Given the description of an element on the screen output the (x, y) to click on. 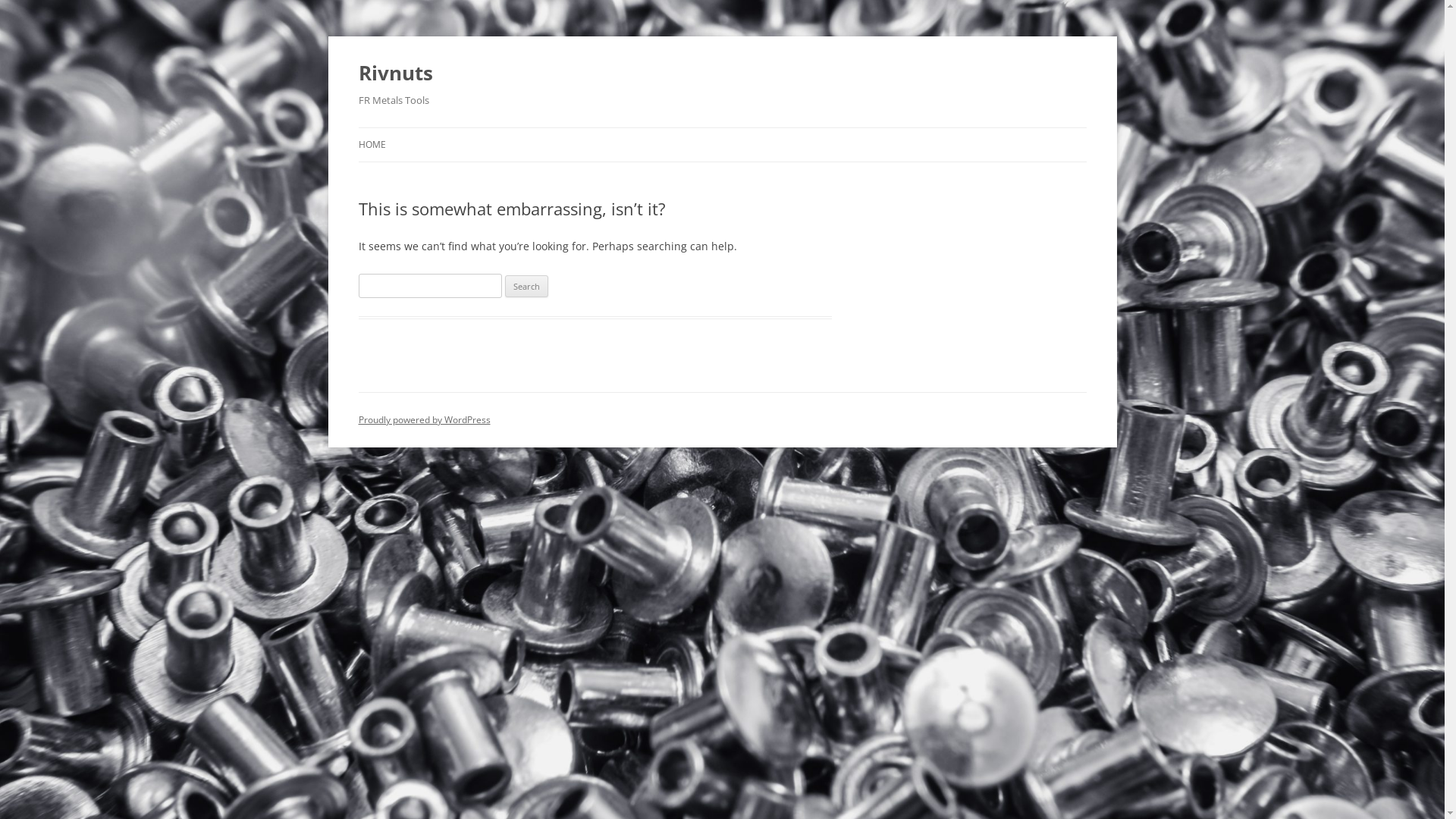
Proudly powered by WordPress Element type: text (423, 419)
Search Element type: text (526, 286)
Rivnuts Element type: text (394, 72)
Skip to content Element type: text (721, 127)
HOME Element type: text (371, 144)
